Given the description of an element on the screen output the (x, y) to click on. 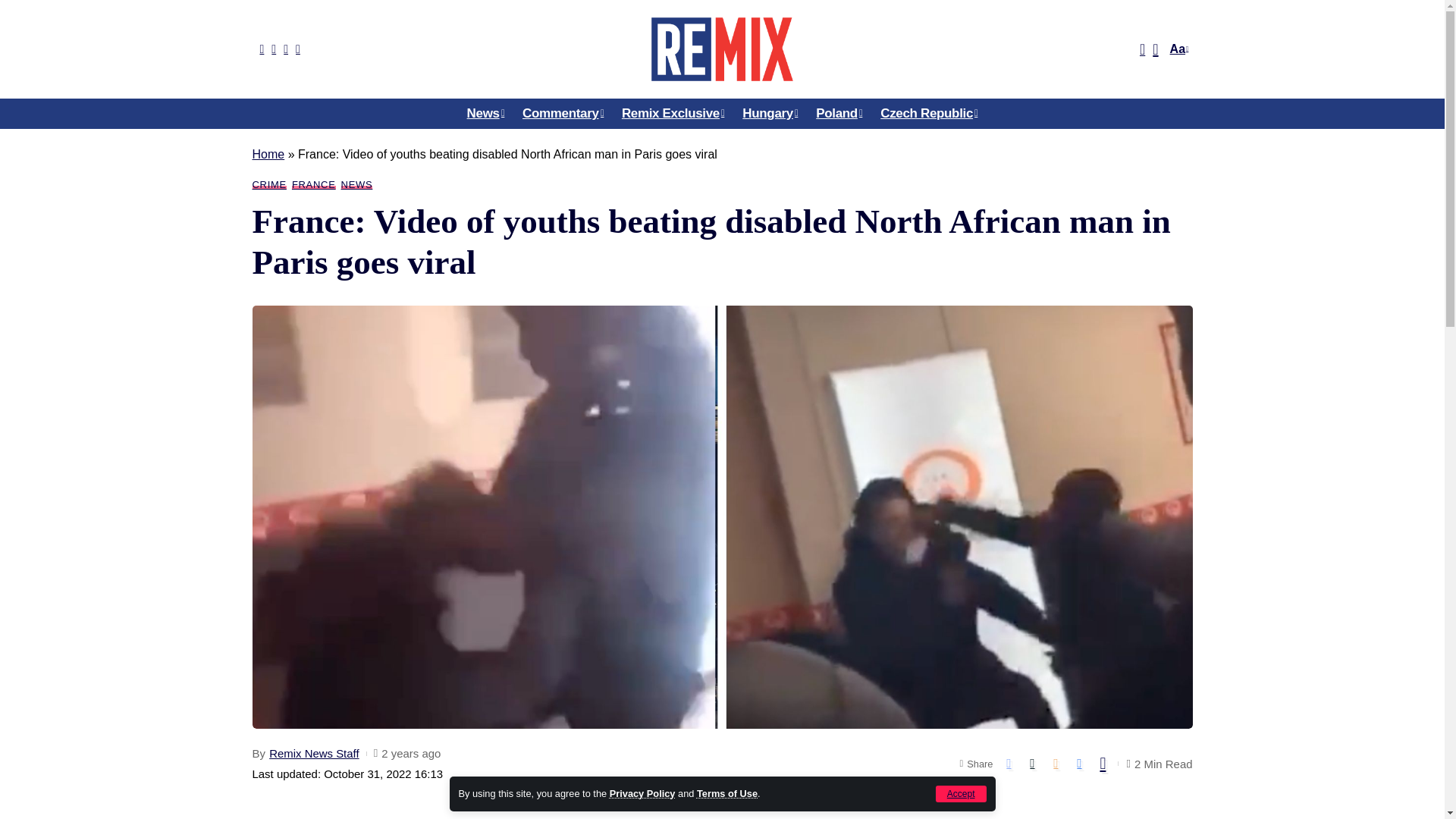
News (485, 113)
Commentary (562, 113)
Privacy Policy (642, 793)
Aa (1177, 48)
Remix News (721, 48)
Remix Exclusive (672, 113)
Terms of Use (727, 793)
Accept (961, 793)
